Given the description of an element on the screen output the (x, y) to click on. 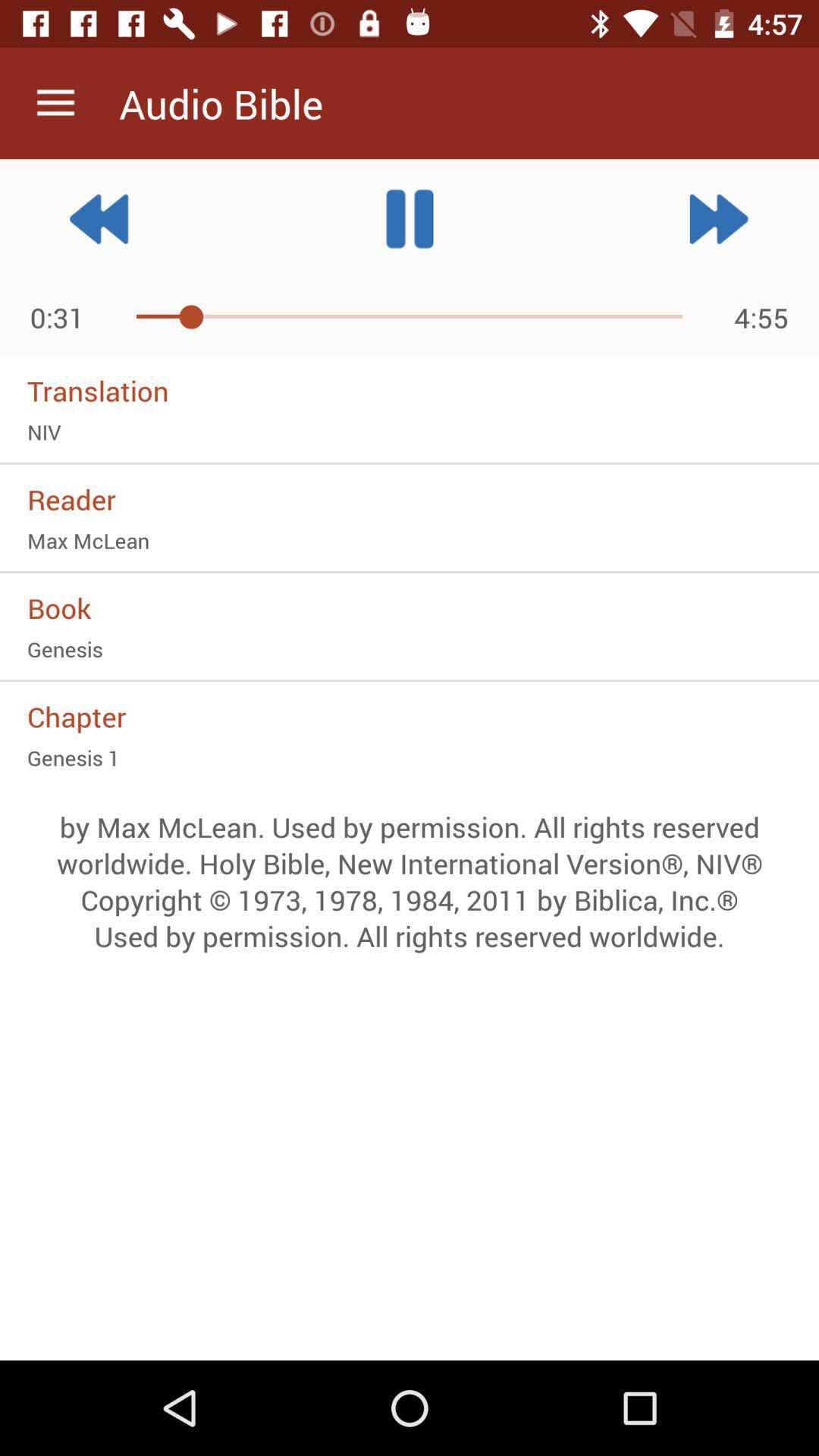
press the app to the left of audio bible item (55, 103)
